Given the description of an element on the screen output the (x, y) to click on. 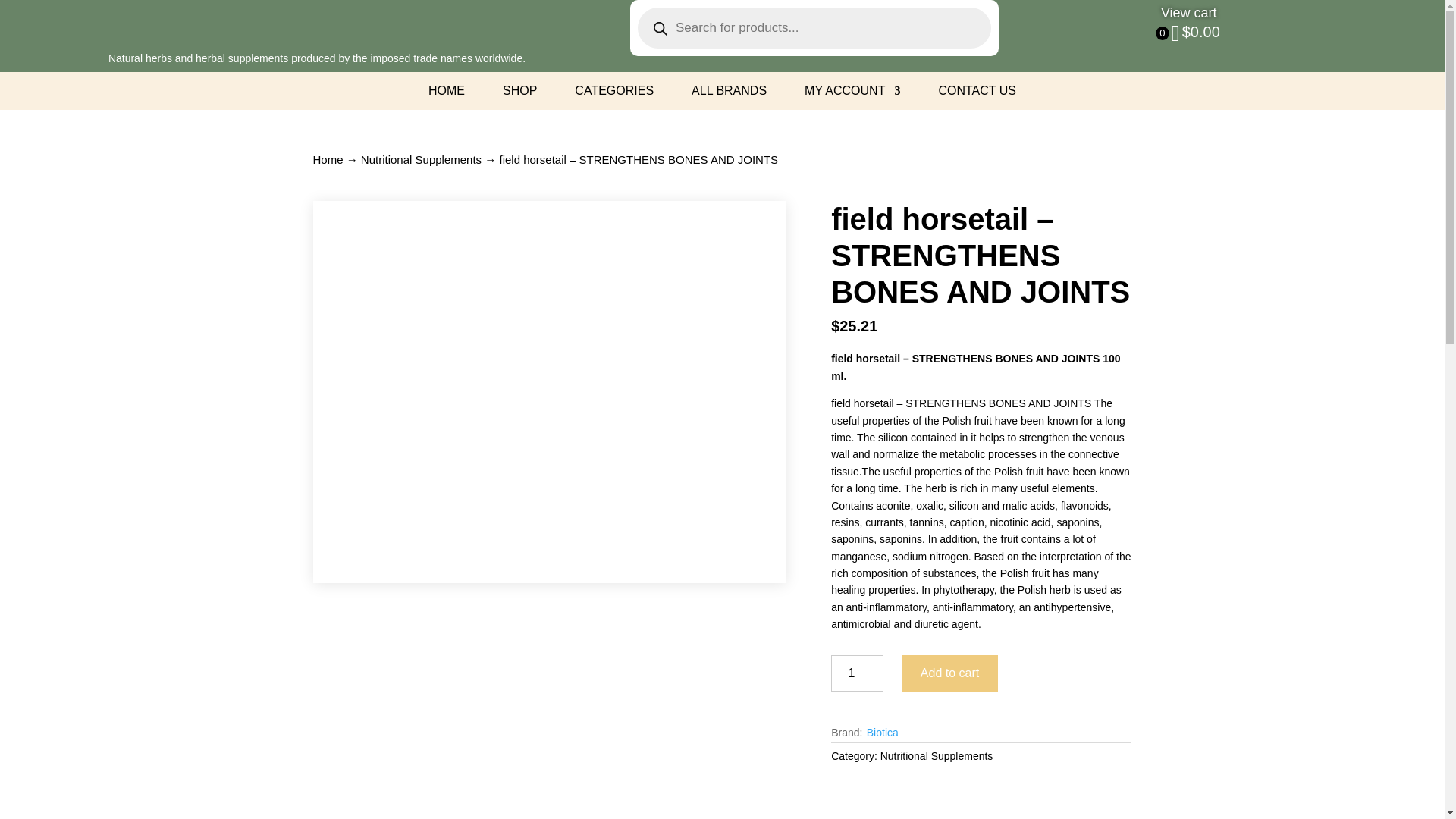
View brand (882, 732)
1 (857, 673)
CONTACT US (976, 93)
CATEGORIES (614, 93)
HOME (446, 93)
SHOP (519, 93)
Add to cart (949, 673)
Home (327, 159)
Logo horizontal (334, 24)
MY ACCOUNT (852, 93)
Nutritional Supplements (421, 159)
ALL BRANDS (729, 93)
Biotica (882, 732)
Nutritional Supplements (936, 756)
